Given the description of an element on the screen output the (x, y) to click on. 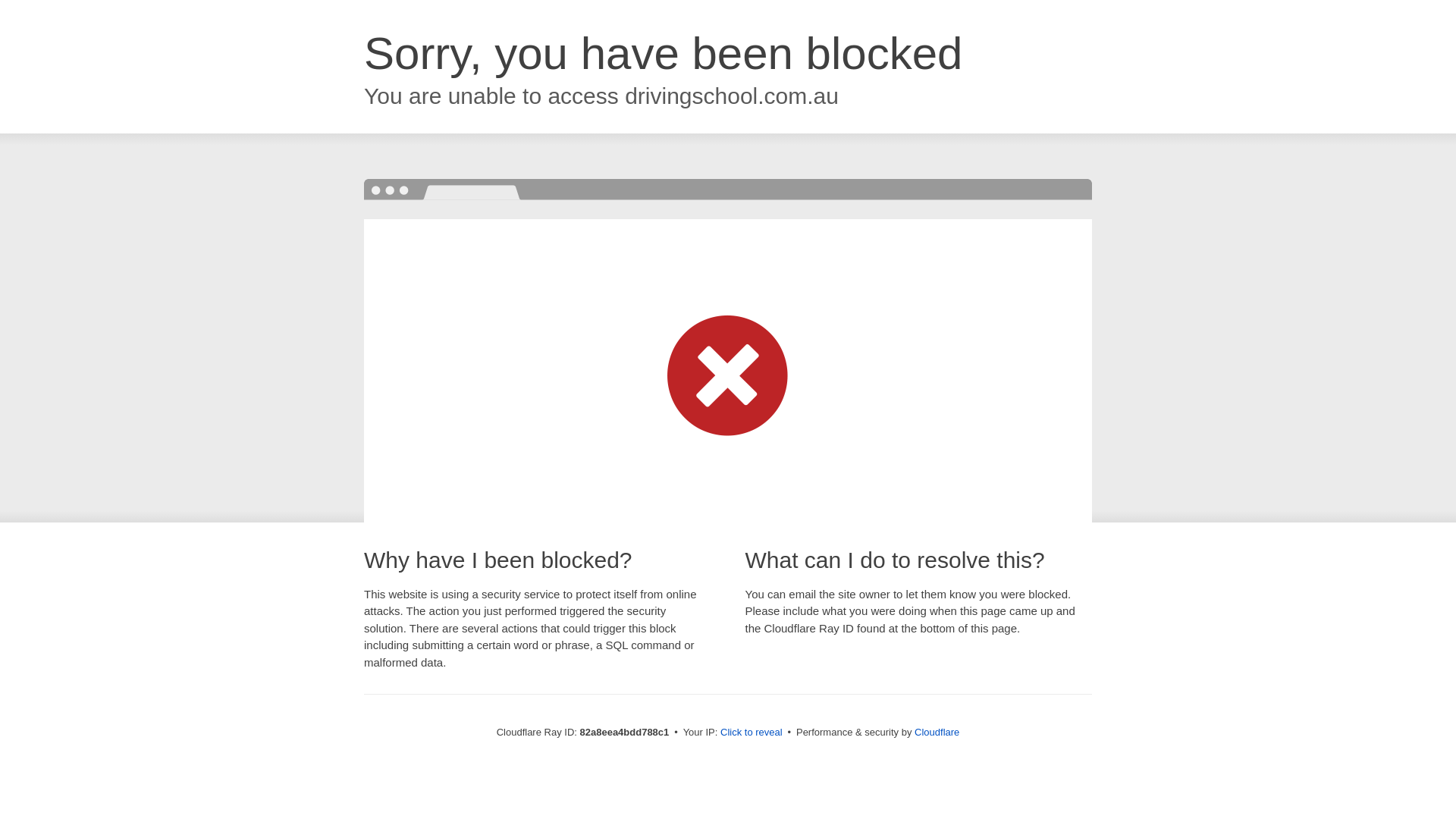
Cloudflare Element type: text (936, 731)
Click to reveal Element type: text (751, 732)
